Given the description of an element on the screen output the (x, y) to click on. 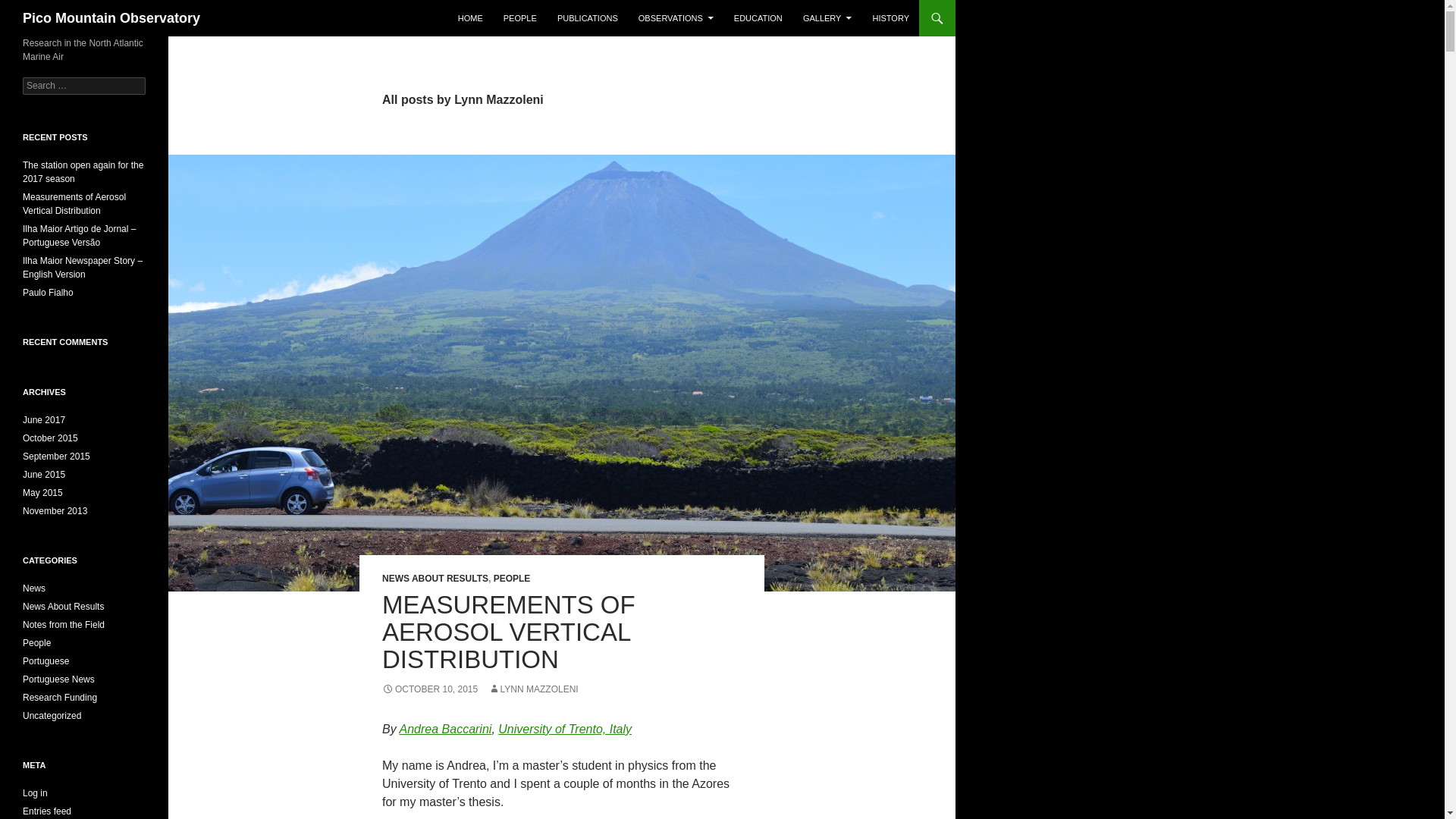
LYNN MAZZOLENI (532, 688)
PUBLICATIONS (587, 18)
PEOPLE (512, 578)
University of Trento, Italy (564, 728)
HISTORY (890, 18)
MEASUREMENTS OF AEROSOL VERTICAL DISTRIBUTION (507, 631)
OCTOBER 10, 2015 (429, 688)
HOME (470, 18)
EDUCATION (758, 18)
NEWS ABOUT RESULTS (434, 578)
